Given the description of an element on the screen output the (x, y) to click on. 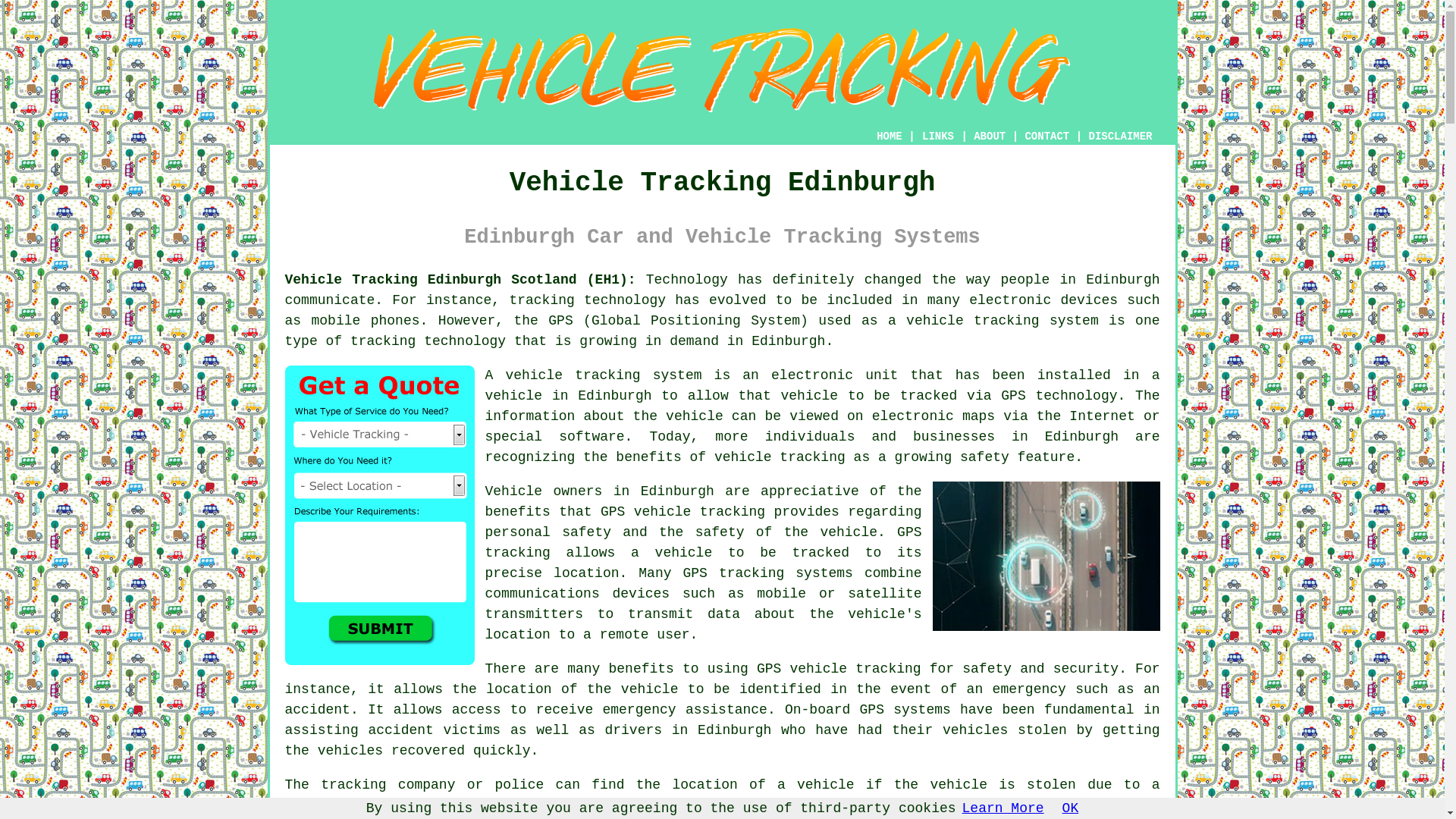
LINKS (938, 136)
Vehicle Tracking Edinburgh (722, 69)
HOME (889, 136)
